Given the description of an element on the screen output the (x, y) to click on. 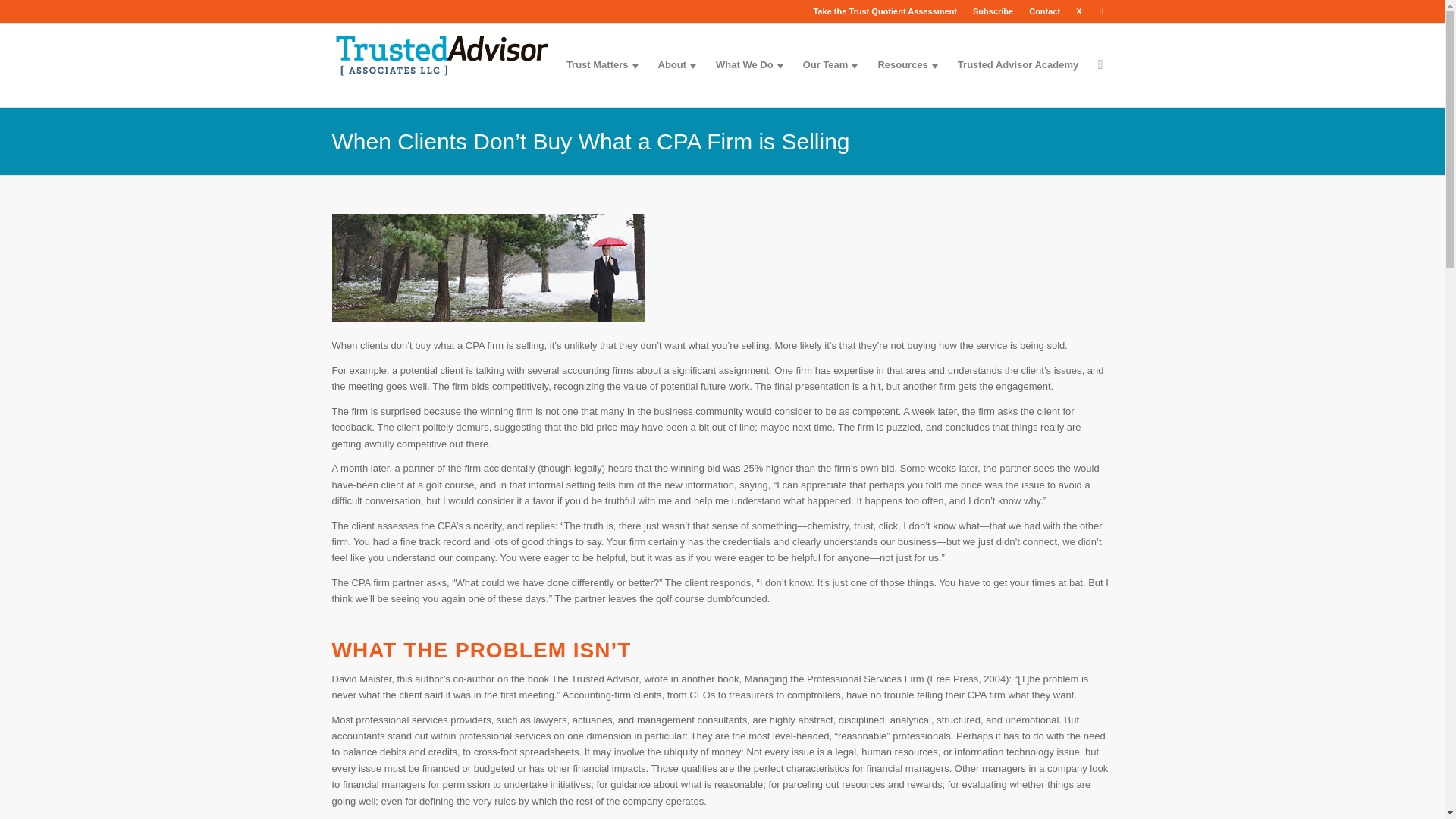
Contact (1044, 11)
What We Do (749, 65)
Take the Trust Quotient Assessment (885, 11)
Linkedin (1101, 11)
Subscribe (992, 11)
Trust Matters (601, 65)
Our Team (830, 65)
